Given the description of an element on the screen output the (x, y) to click on. 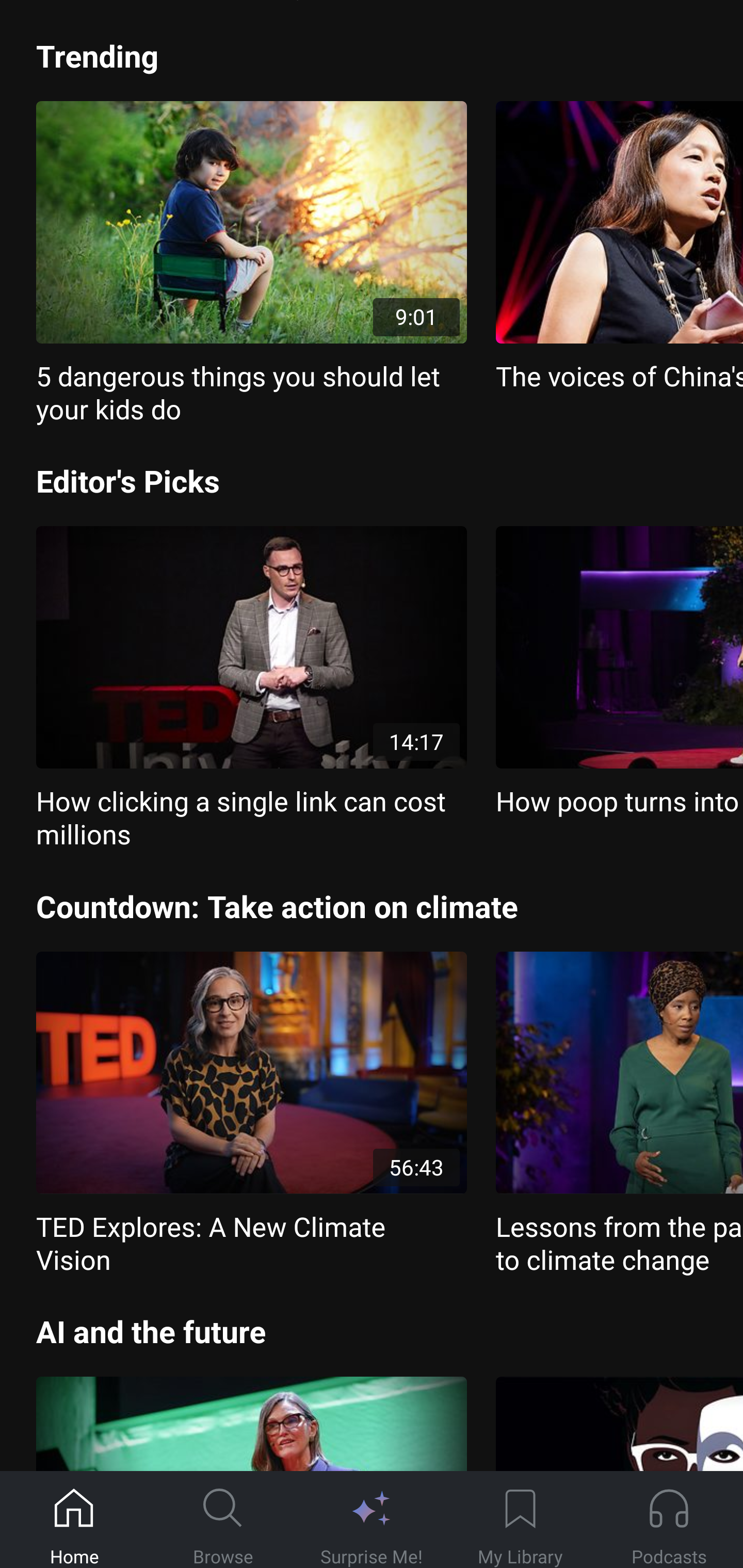
The voices of China's workers (619, 246)
14:17 How clicking a single link can cost millions (251, 688)
How poop turns into forests (619, 672)
56:43 TED Explores: A New Climate Vision (251, 1113)
Home (74, 1520)
Browse (222, 1520)
Surprise Me! (371, 1520)
My Library (519, 1520)
Podcasts (668, 1520)
